Given the description of an element on the screen output the (x, y) to click on. 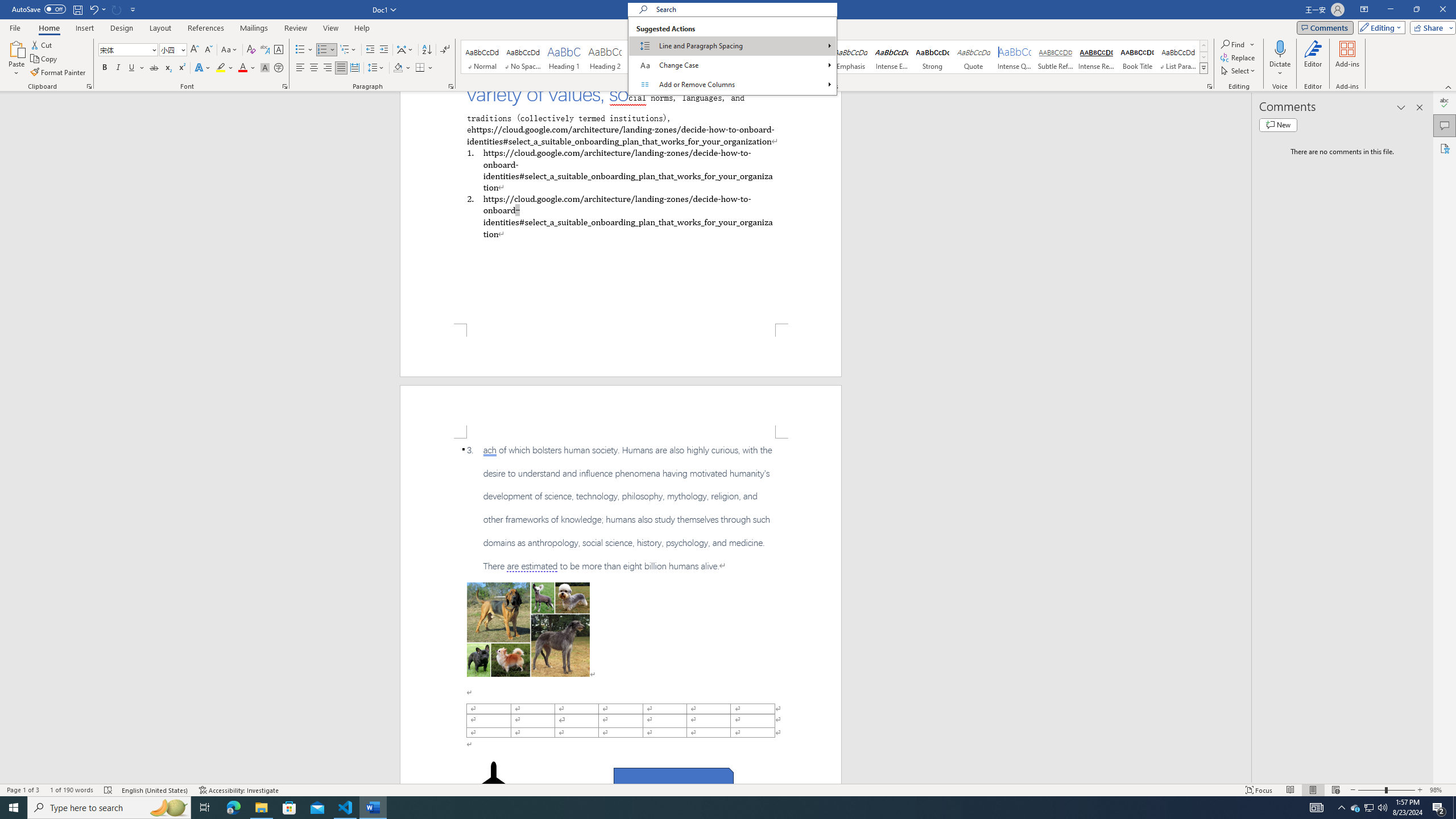
Styles (1203, 67)
Line and Paragraph Spacing (376, 67)
Undo Apply Quick Style (96, 9)
Numbering (322, 49)
Insert (83, 28)
Multilevel List (347, 49)
Dictate (1280, 48)
Strikethrough (154, 67)
Format Painter (58, 72)
Find (1232, 44)
Replace... (1237, 56)
Character Border (278, 49)
Borders (424, 67)
Heading 3 (646, 56)
1. (620, 169)
